Given the description of an element on the screen output the (x, y) to click on. 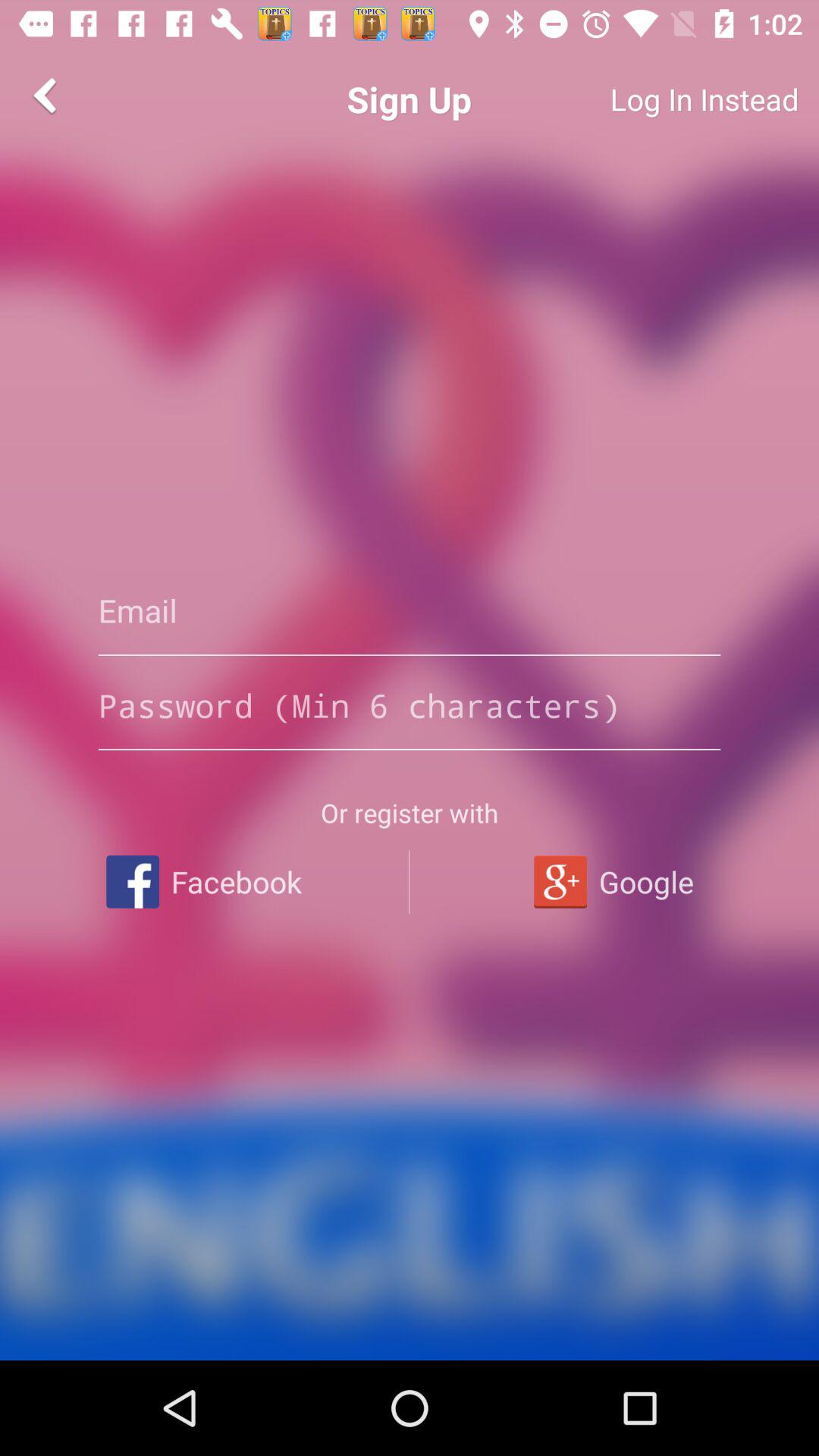
password entry typebox (409, 705)
